Given the description of an element on the screen output the (x, y) to click on. 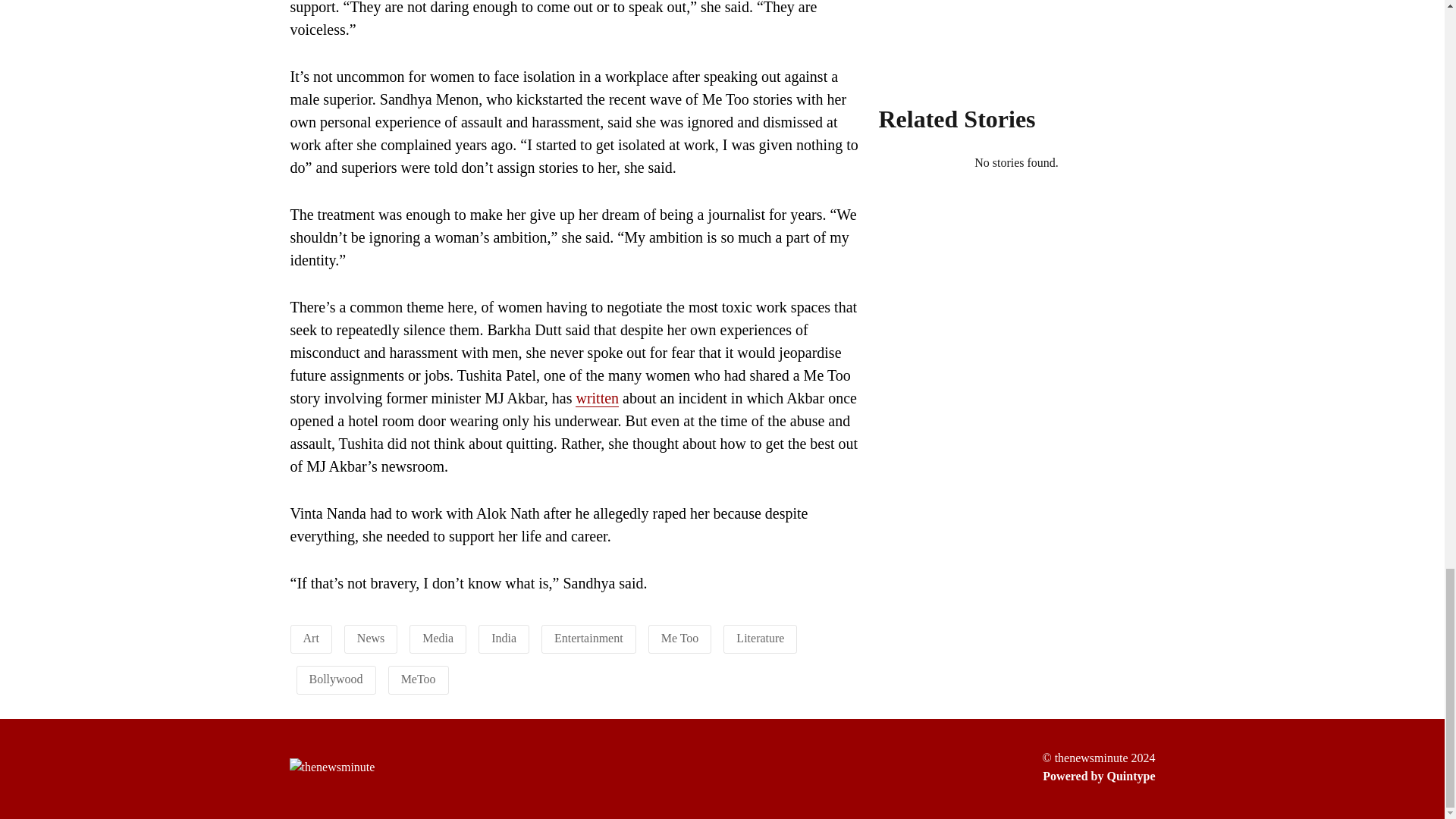
Media (437, 637)
Bollywood (335, 678)
Powered by Quintype (1098, 776)
Art (310, 637)
India (504, 637)
written (596, 398)
Entertainment (588, 637)
News (370, 637)
Literature (760, 637)
Me Too (679, 637)
